Given the description of an element on the screen output the (x, y) to click on. 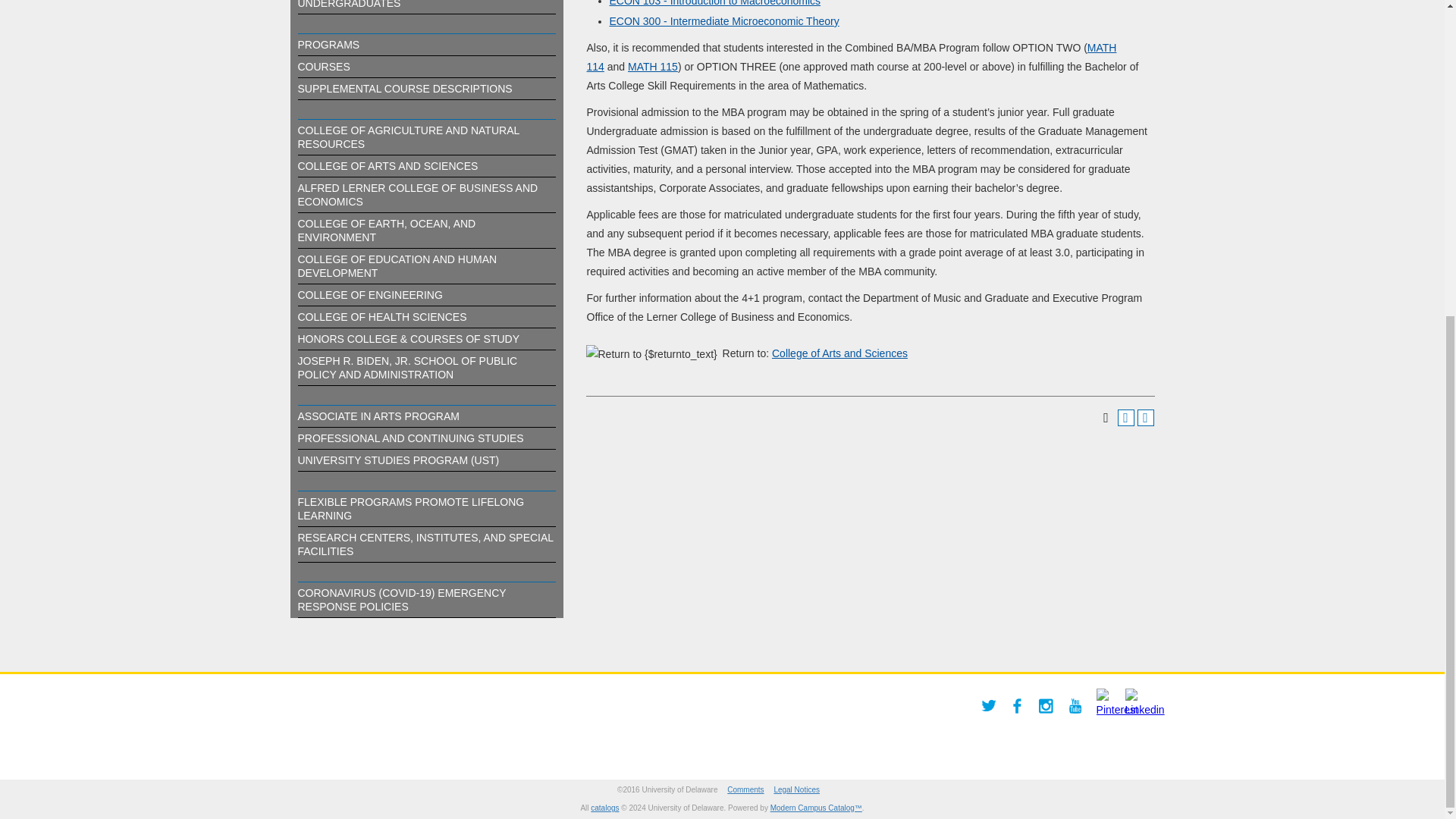
COLLEGE OF EARTH, OCEAN, AND ENVIRONMENT (386, 230)
ACADEMIC REGULATIONS FOR UNDERGRADUATES (377, 4)
COLLEGE OF AGRICULTURE AND NATURAL RESOURCES (407, 136)
FLEXIBLE PROGRAMS PROMOTE LIFELONG LEARNING (410, 508)
COLLEGE OF ARTS AND SCIENCES (387, 165)
RESEARCH CENTERS, INSTITUTES, AND SPECIAL FACILITIES (425, 544)
COLLEGE OF ENGINEERING (369, 295)
COURSES (323, 66)
PROGRAMS (328, 44)
COLLEGE OF HEALTH SCIENCES (381, 316)
PROFESSIONAL AND CONTINUING STUDIES (409, 438)
ALFRED LERNER COLLEGE OF BUSINESS AND ECONOMICS (417, 194)
COLLEGE OF EDUCATION AND HUMAN DEVELOPMENT (396, 266)
SUPPLEMENTAL COURSE DESCRIPTIONS (404, 88)
